Given the description of an element on the screen output the (x, y) to click on. 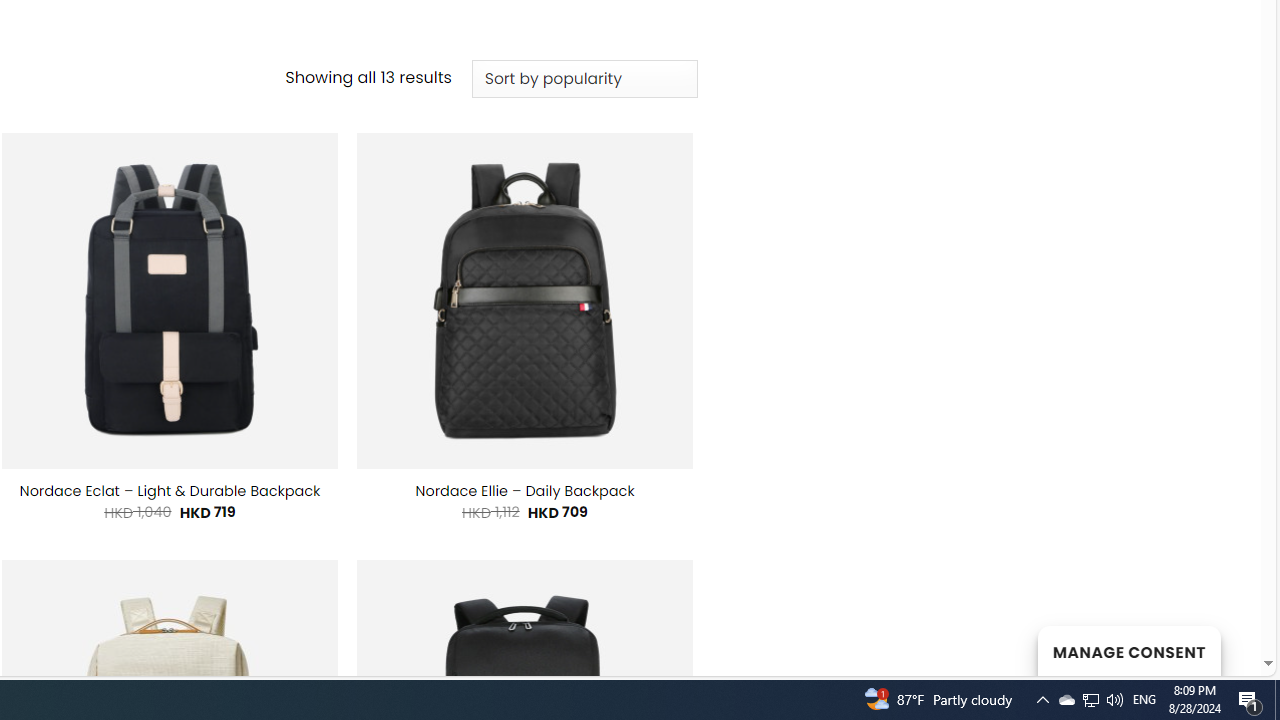
MANAGE CONSENT (1128, 650)
Shop order (584, 79)
